Given the description of an element on the screen output the (x, y) to click on. 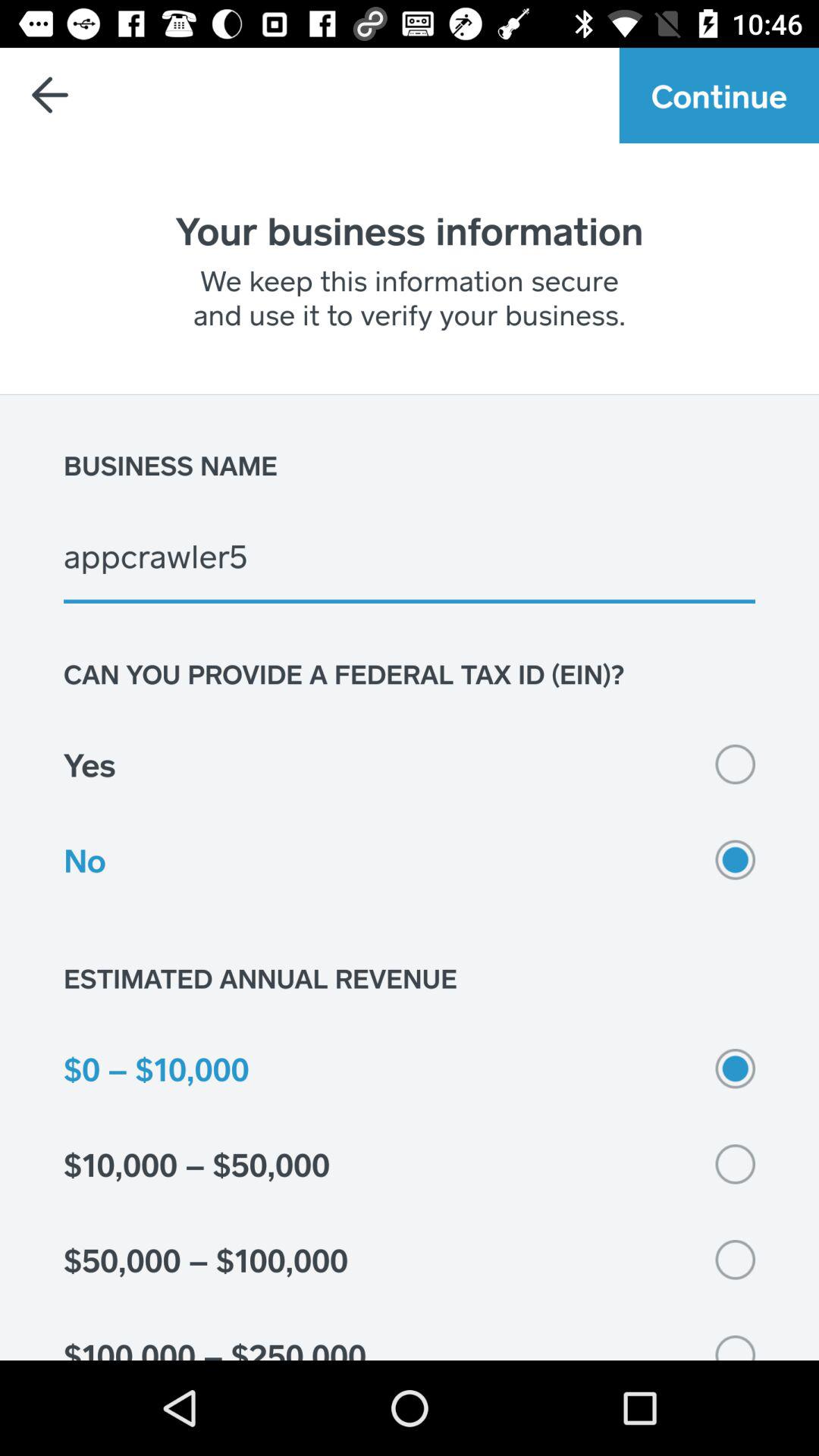
open the item below business name item (409, 555)
